Given the description of an element on the screen output the (x, y) to click on. 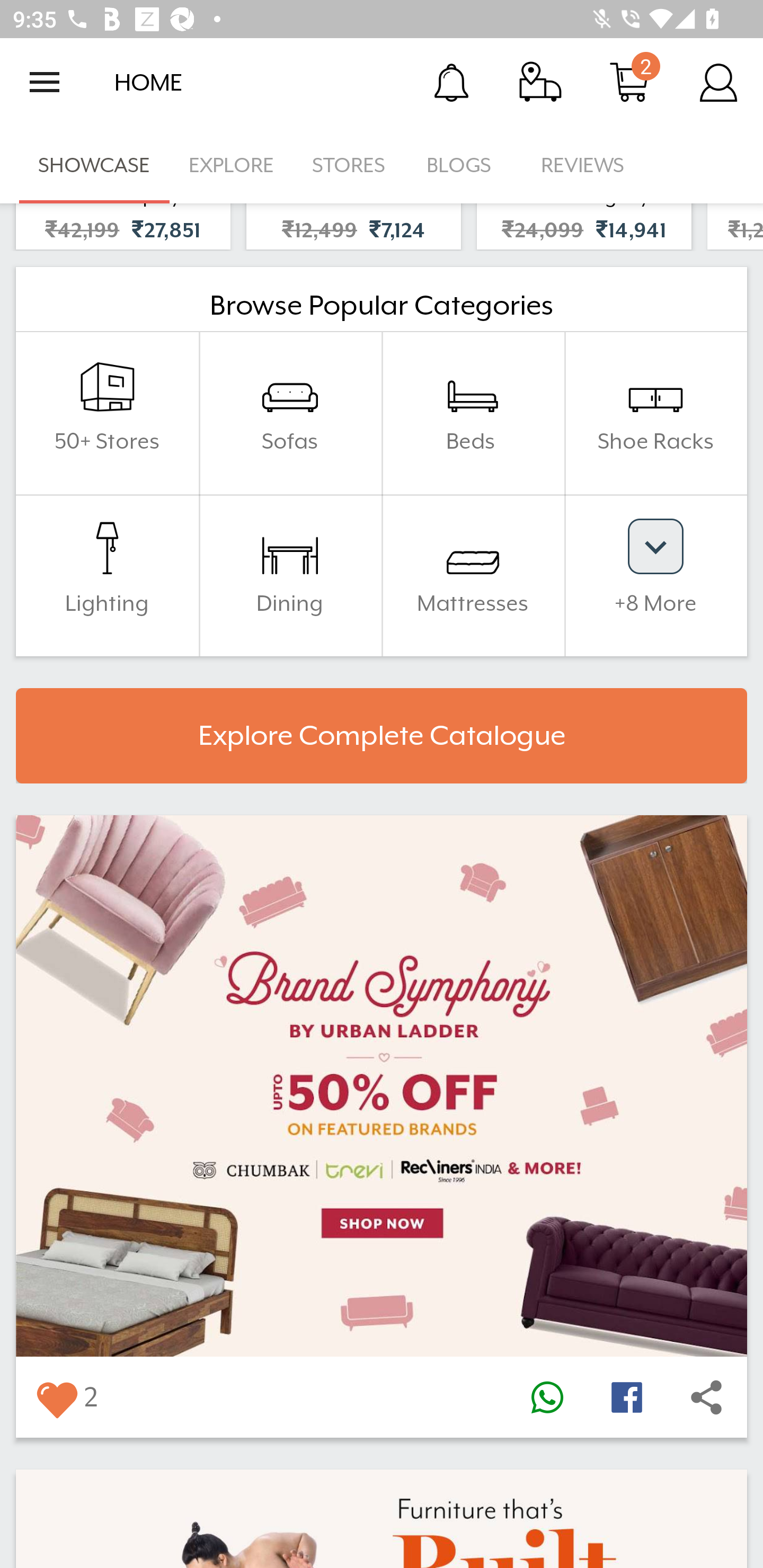
Open navigation drawer (44, 82)
Notification (450, 81)
Track Order (540, 81)
Cart (629, 81)
Account Details (718, 81)
SHOWCASE (94, 165)
EXPLORE (230, 165)
STORES (349, 165)
BLOGS (464, 165)
REVIEWS (582, 165)
50+ Stores (106, 412)
Sofas (289, 412)
Beds  (473, 412)
Shoe Racks (655, 412)
Lighting (106, 575)
Dining (289, 575)
Mattresses (473, 575)
 +8 More (655, 575)
Explore Complete Catalogue (381, 736)
 (55, 1396)
 (547, 1396)
 (626, 1396)
 (706, 1396)
